Given the description of an element on the screen output the (x, y) to click on. 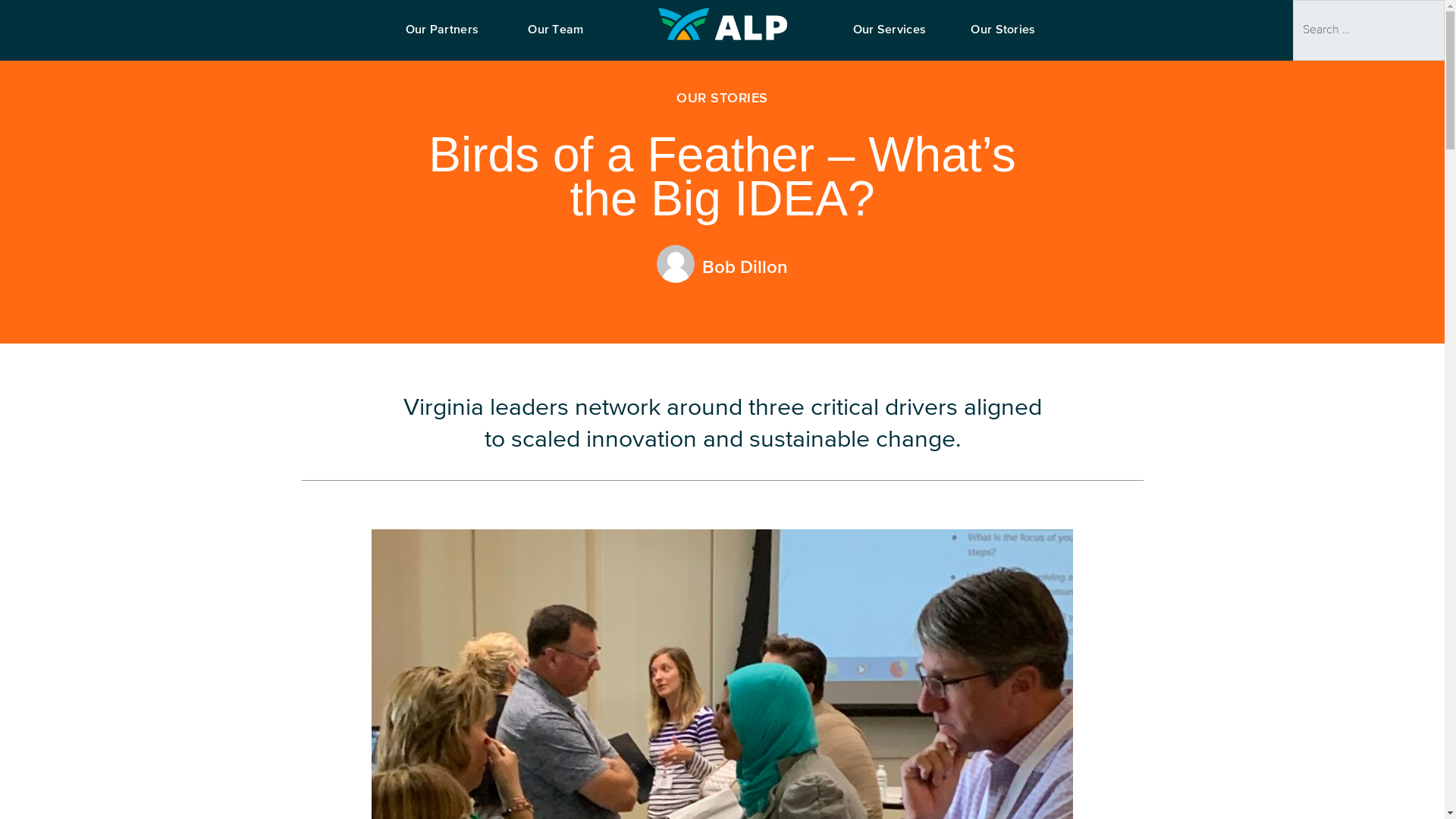
Our Team (555, 33)
Our Stories (1002, 33)
Our Services (889, 33)
Our Services (889, 33)
Our Partners (442, 33)
Our Team (555, 33)
Our Stories (1002, 33)
Our Partners (442, 33)
